Given the description of an element on the screen output the (x, y) to click on. 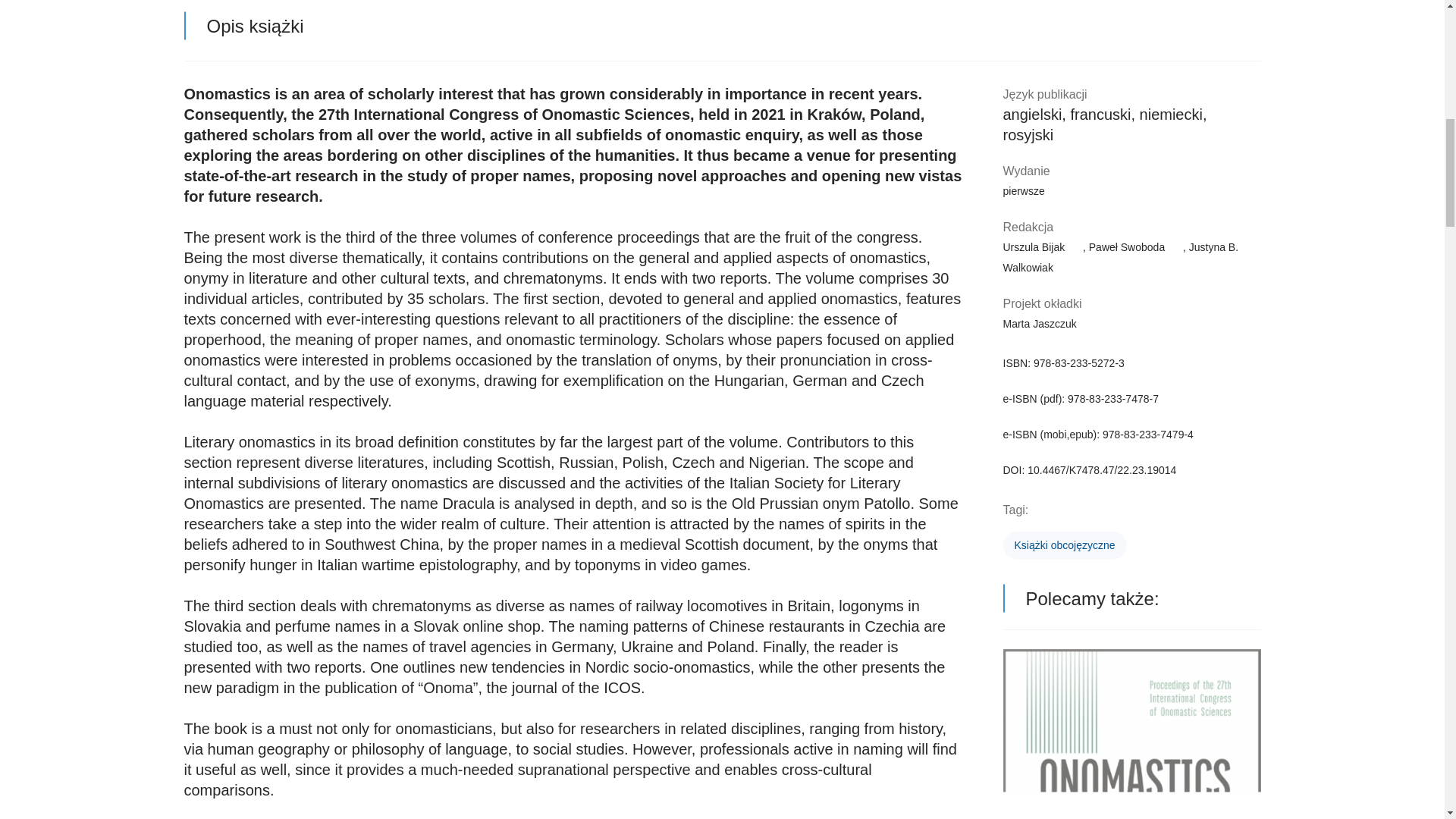
ORCID Urszula Bijak (1073, 243)
